Given the description of an element on the screen output the (x, y) to click on. 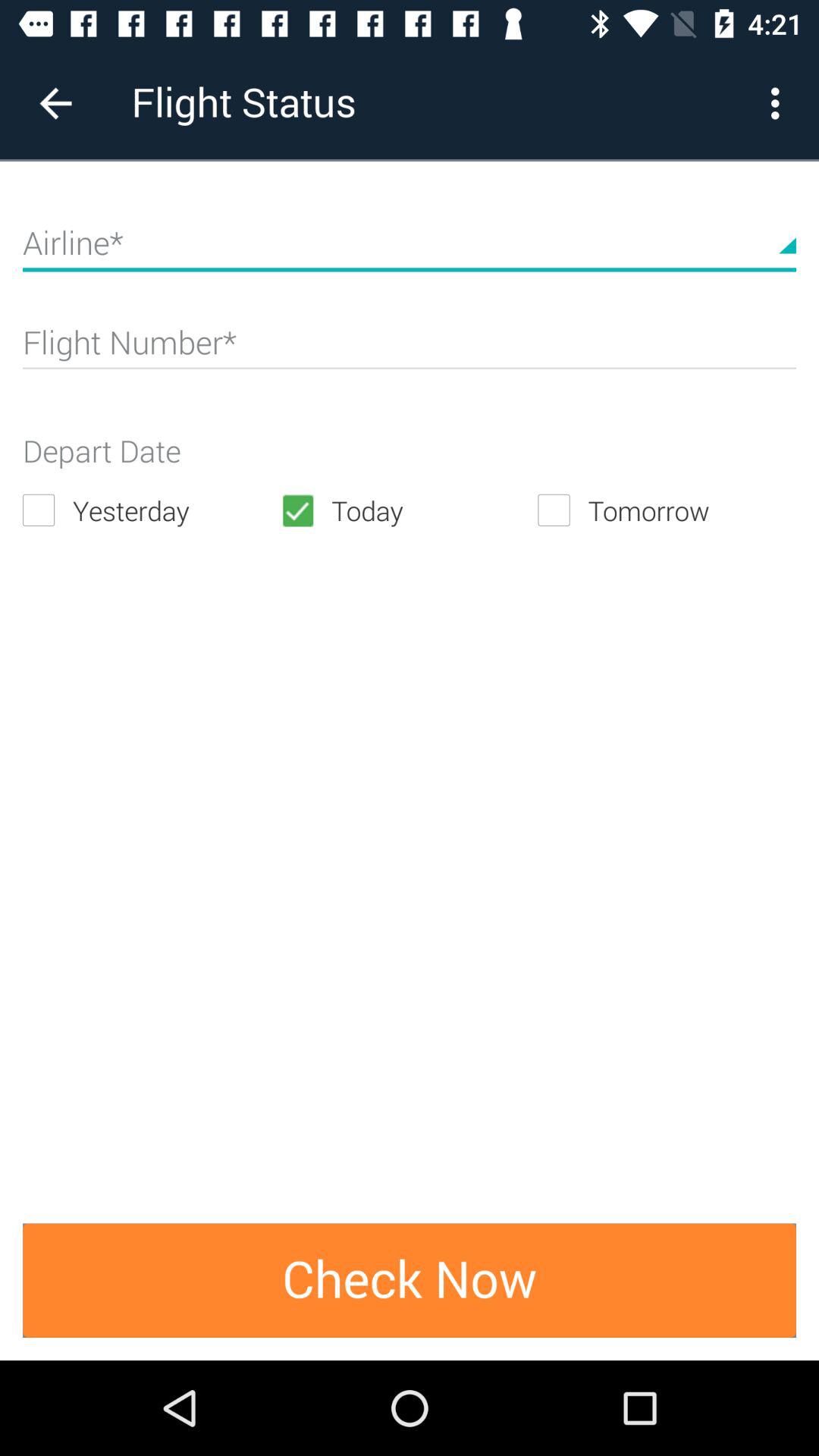
a place to enter flight number (409, 348)
